Given the description of an element on the screen output the (x, y) to click on. 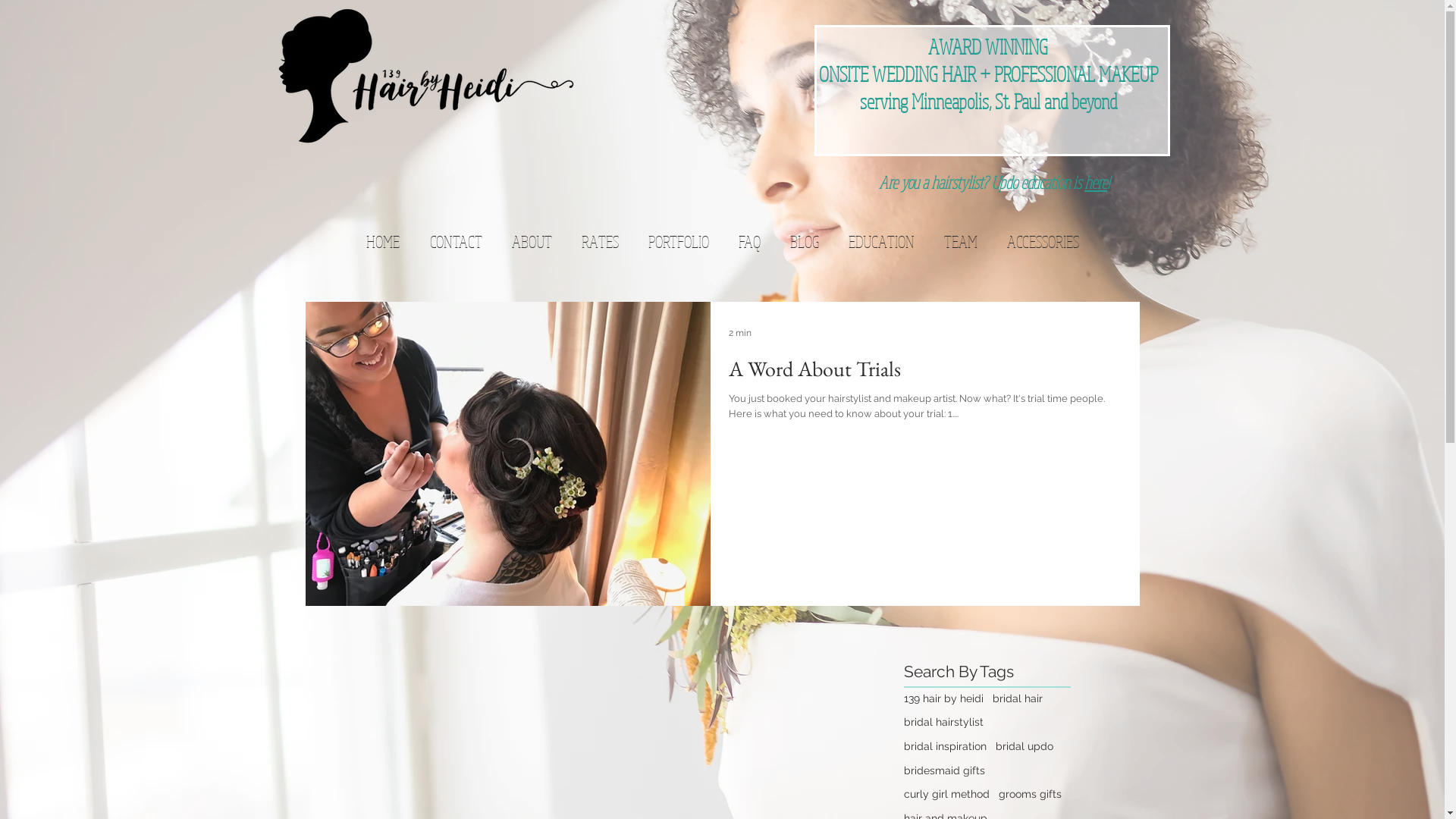
bridesmaid gifts Element type: text (944, 770)
ABOUT Element type: text (531, 241)
ACCESSORIES Element type: text (1043, 241)
CONTACT Element type: text (455, 241)
FAQ Element type: text (749, 241)
here Element type: text (1095, 181)
A Word About Trials Element type: text (924, 372)
HOME Element type: text (382, 241)
EDUCATION Element type: text (881, 241)
bridal hairstylist Element type: text (943, 722)
bridal updo Element type: text (1023, 746)
TEAM Element type: text (960, 241)
bridal hair Element type: text (1016, 698)
bridal inspiration Element type: text (944, 746)
BLOG Element type: text (804, 241)
grooms gifts Element type: text (1028, 794)
RATES Element type: text (599, 241)
curly girl method Element type: text (946, 794)
139 hair by heidi Element type: text (943, 698)
PORTFOLIO Element type: text (678, 241)
